Given the description of an element on the screen output the (x, y) to click on. 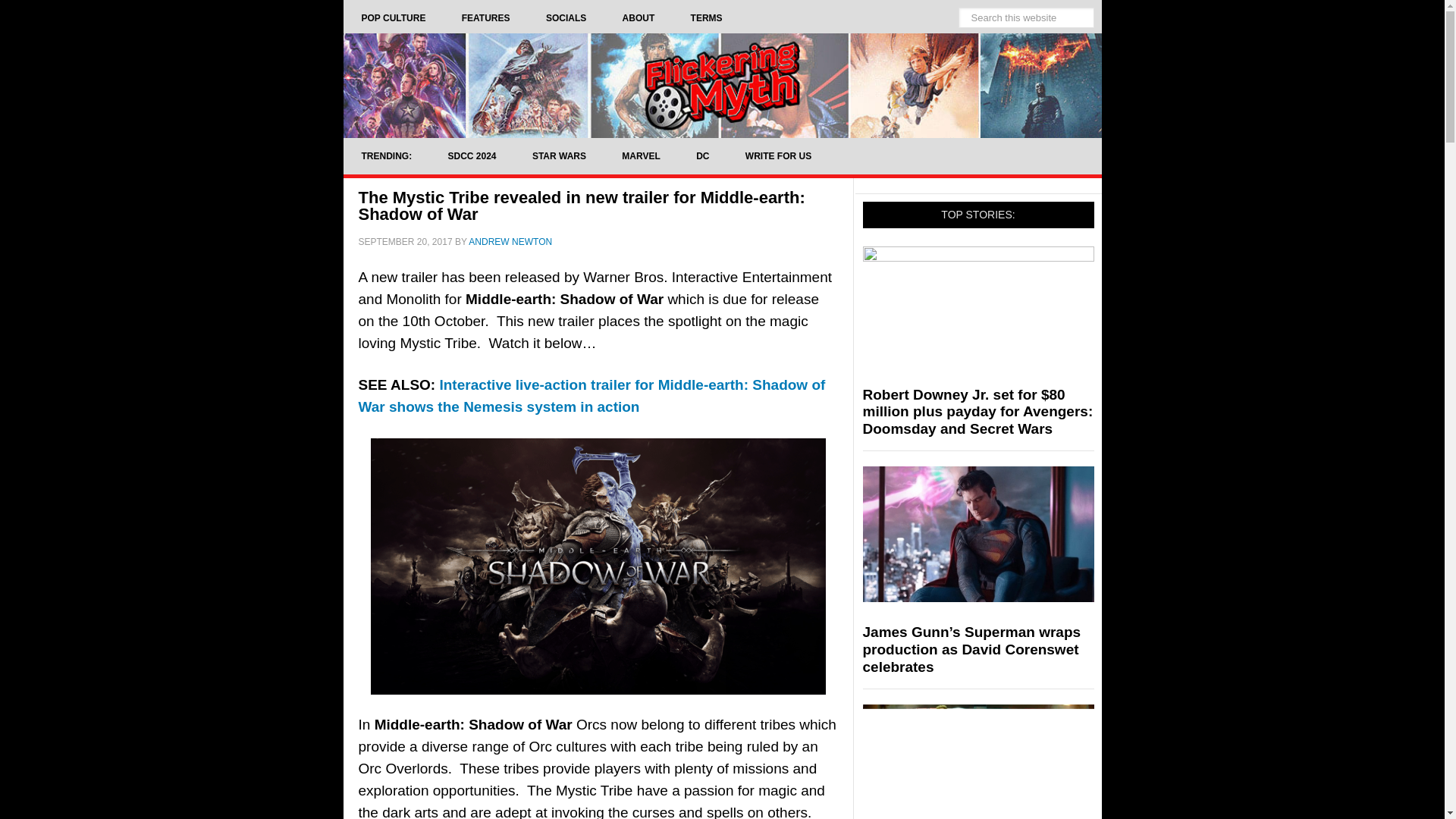
FLICKERING MYTH (721, 85)
SOCIALS (565, 18)
WRITE FOR US (777, 156)
ANDREW NEWTON (509, 241)
DC (702, 156)
Flickering Myth Social Media (565, 18)
TRENDING: (385, 156)
Pop Culture (393, 18)
Features (486, 18)
TERMS (706, 18)
About Flickering Myth (638, 18)
POP CULTURE (393, 18)
